Given the description of an element on the screen output the (x, y) to click on. 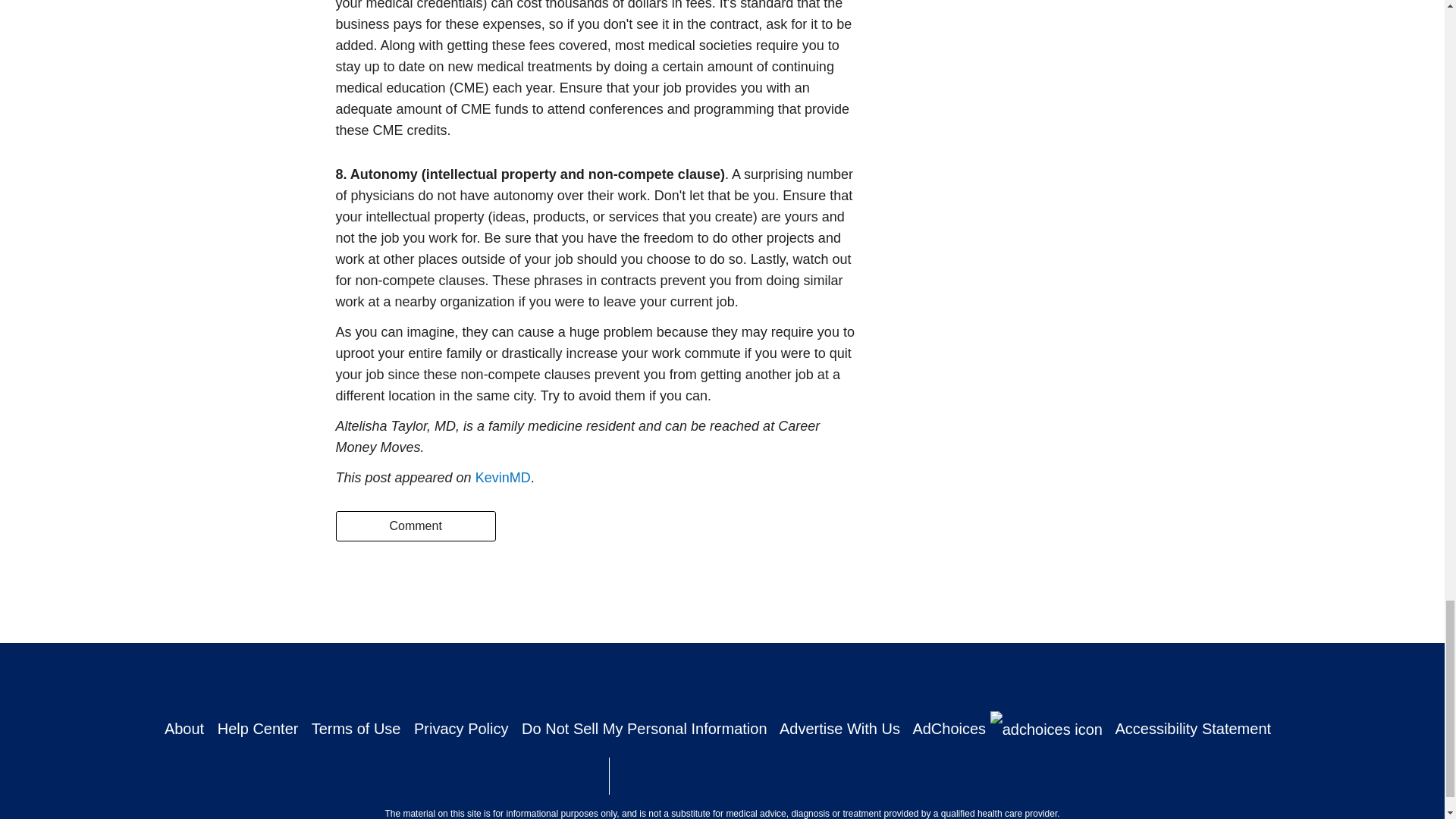
Opens in a new tab or window (933, 773)
Visit us on Instagram. Opens in a new tab or window (696, 678)
Visit us on Facebook. Opens in a new tab or window (590, 678)
Opens in a new tab or window (668, 776)
Visit us on X. Opens in a new tab or window (642, 678)
Visit us on YouTube. Opens in a new tab or window (853, 678)
Opens in a new tab or window (803, 781)
Visit us on LinkedIn. Opens in a new tab or window (748, 678)
Visit us on TikTok. Opens in a new tab or window (801, 678)
Opens in a new tab or window (532, 776)
